Given the description of an element on the screen output the (x, y) to click on. 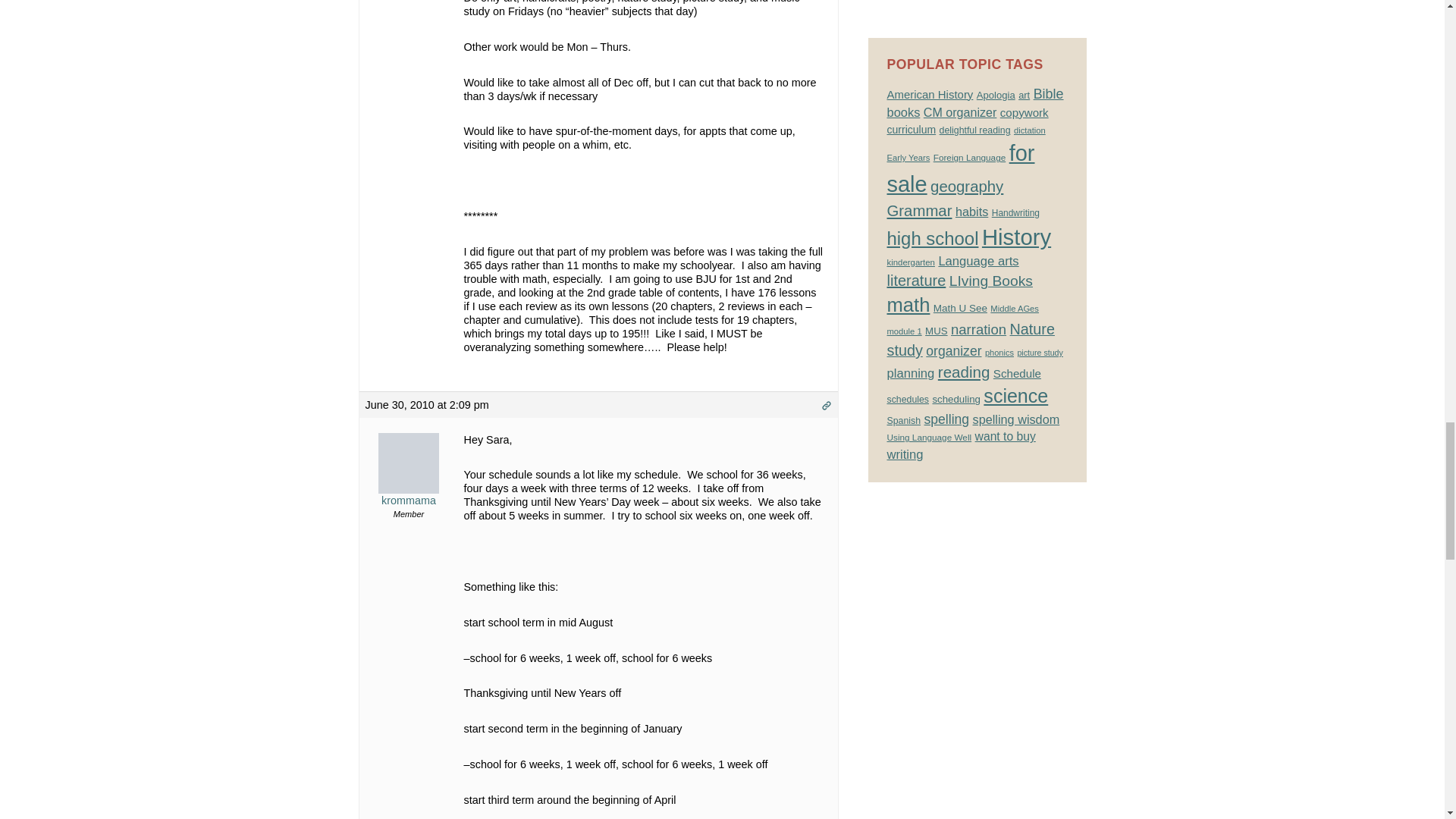
View krommama's profile (408, 478)
